Given the description of an element on the screen output the (x, y) to click on. 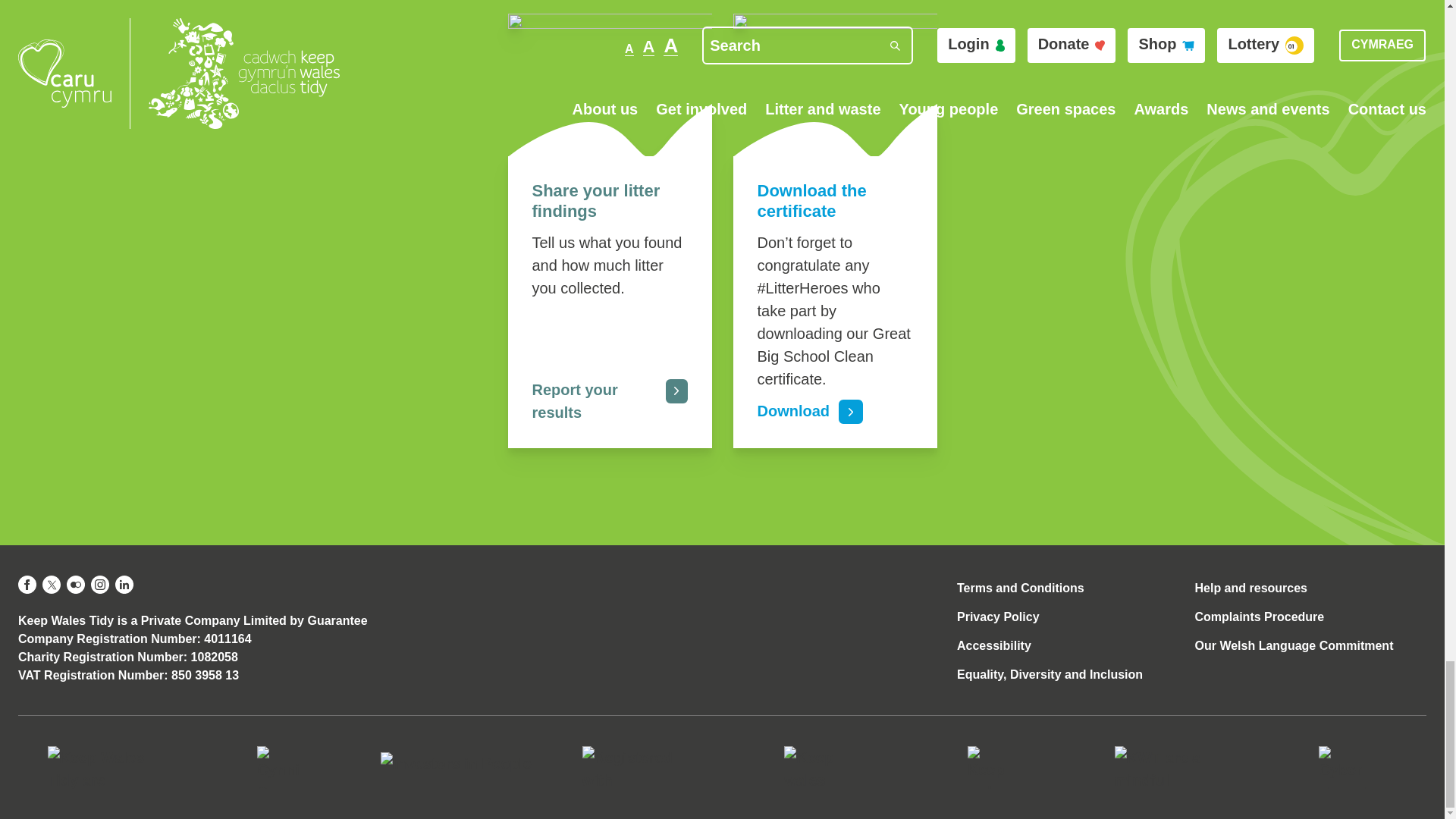
LinkedIn (124, 584)
Facebook (26, 584)
Flickr (75, 584)
Twitter (51, 584)
Instagram (99, 584)
